Given the description of an element on the screen output the (x, y) to click on. 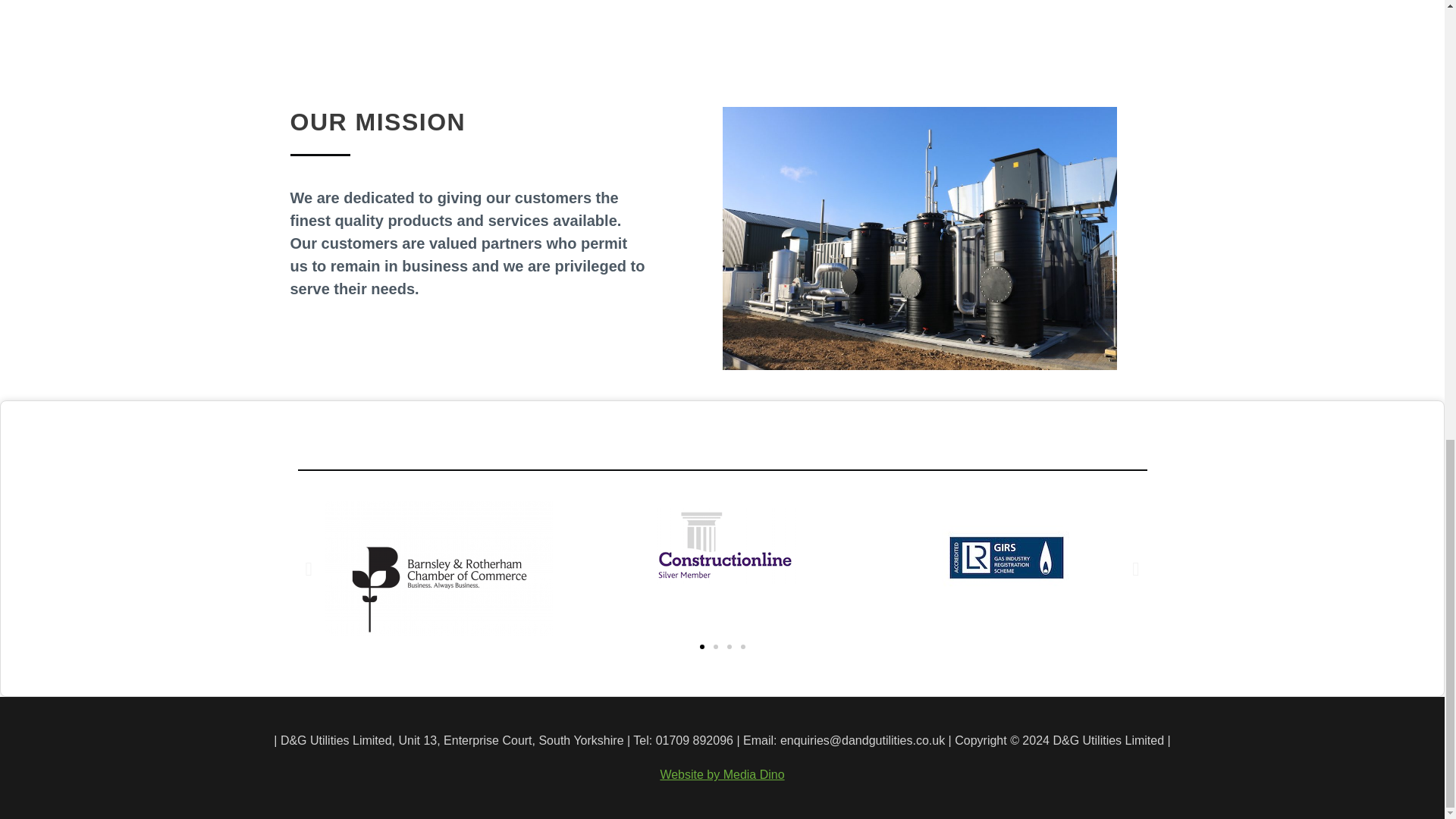
Website by Media Dino (721, 774)
